Given the description of an element on the screen output the (x, y) to click on. 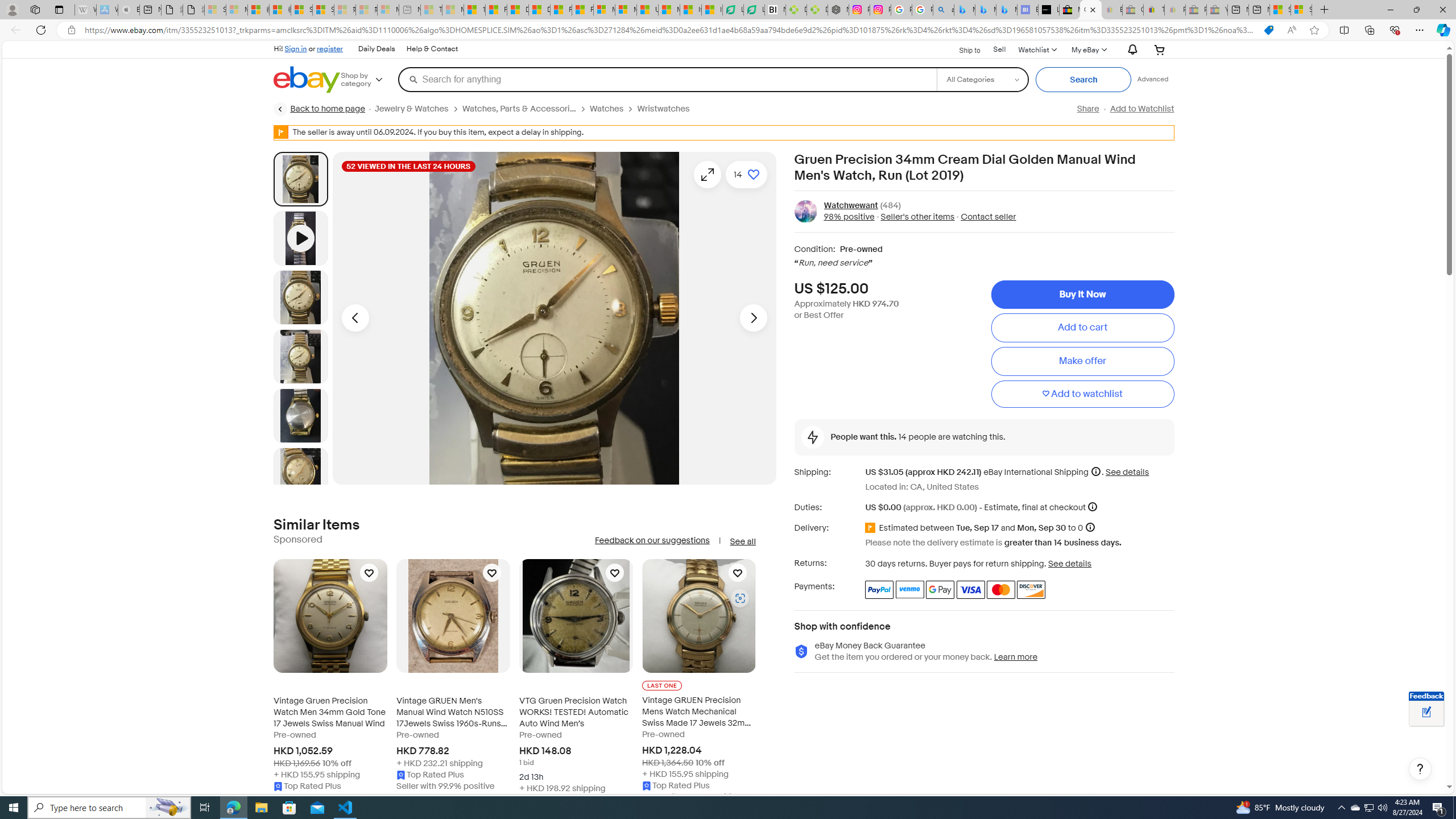
See details for shipping (1126, 472)
Picture 1 of 13 (300, 178)
Watches (613, 108)
Feedback on our suggestions (652, 540)
Microsoft Bing Travel - Shangri-La Hotel Bangkok (1006, 9)
Google Pay (940, 588)
  Seller's other items (914, 216)
Descarga Driver Updater (817, 9)
